Given the description of an element on the screen output the (x, y) to click on. 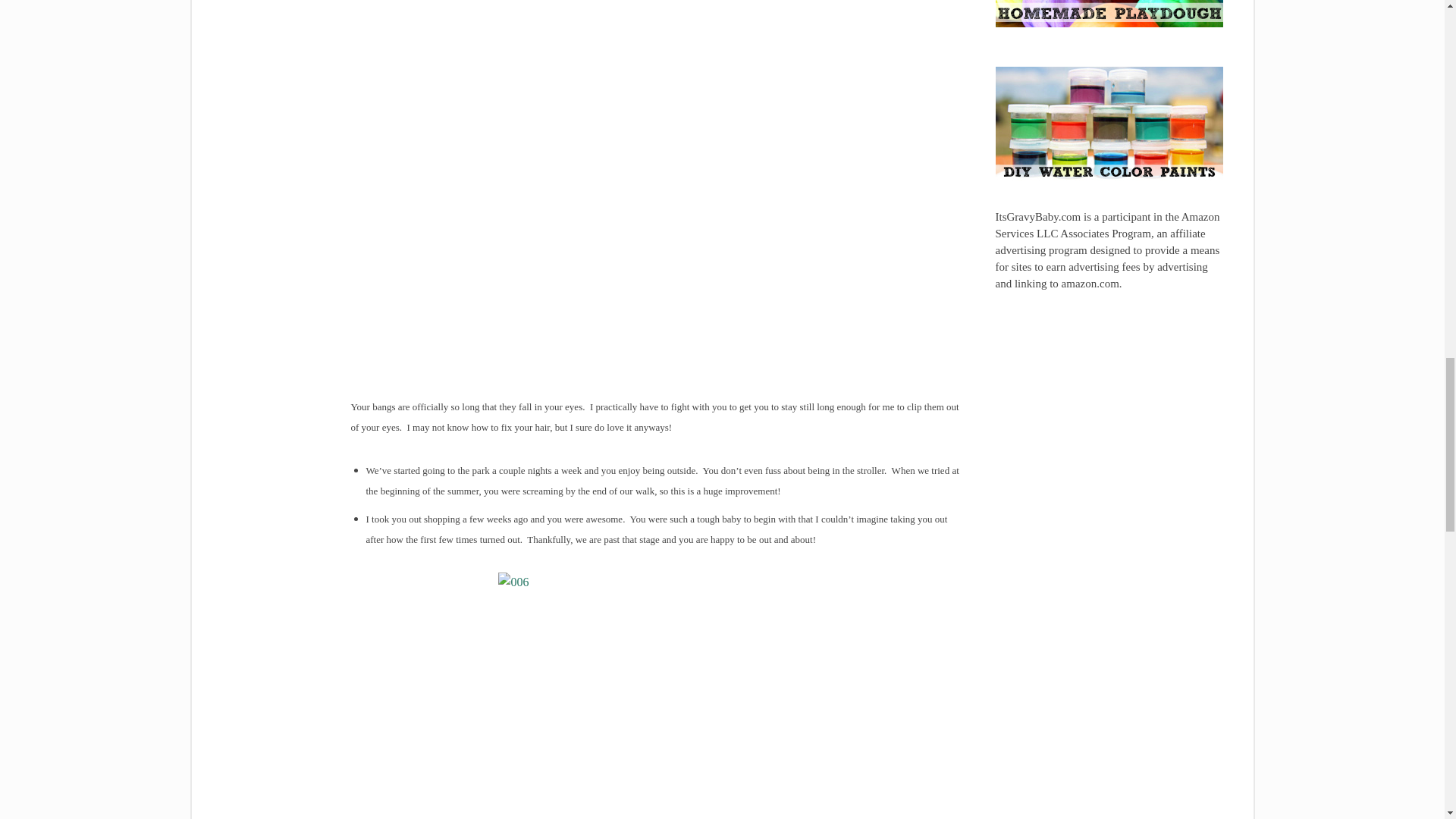
006 (656, 695)
